Given the description of an element on the screen output the (x, y) to click on. 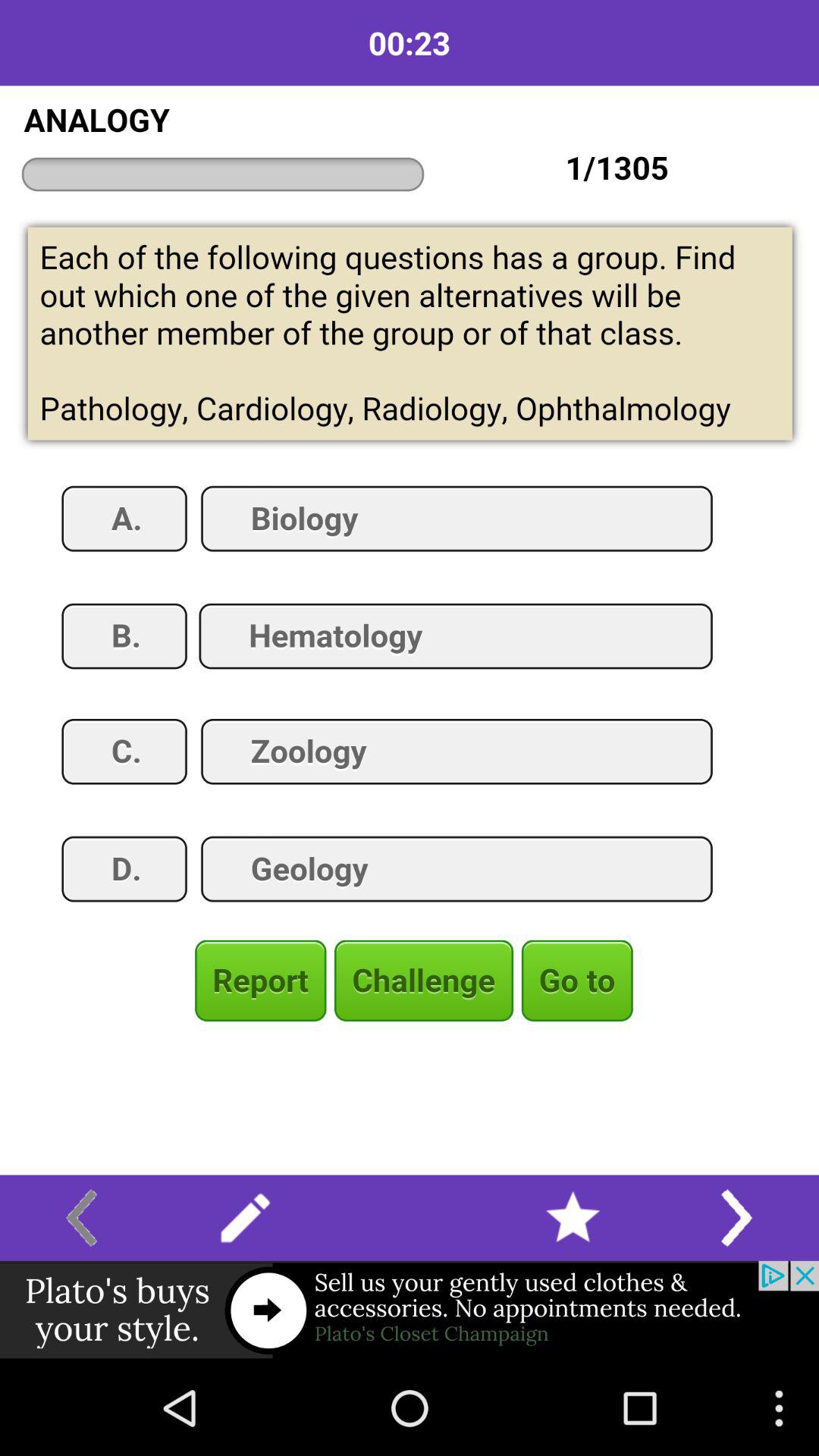
ploto 's buys you style (409, 1310)
